Given the description of an element on the screen output the (x, y) to click on. 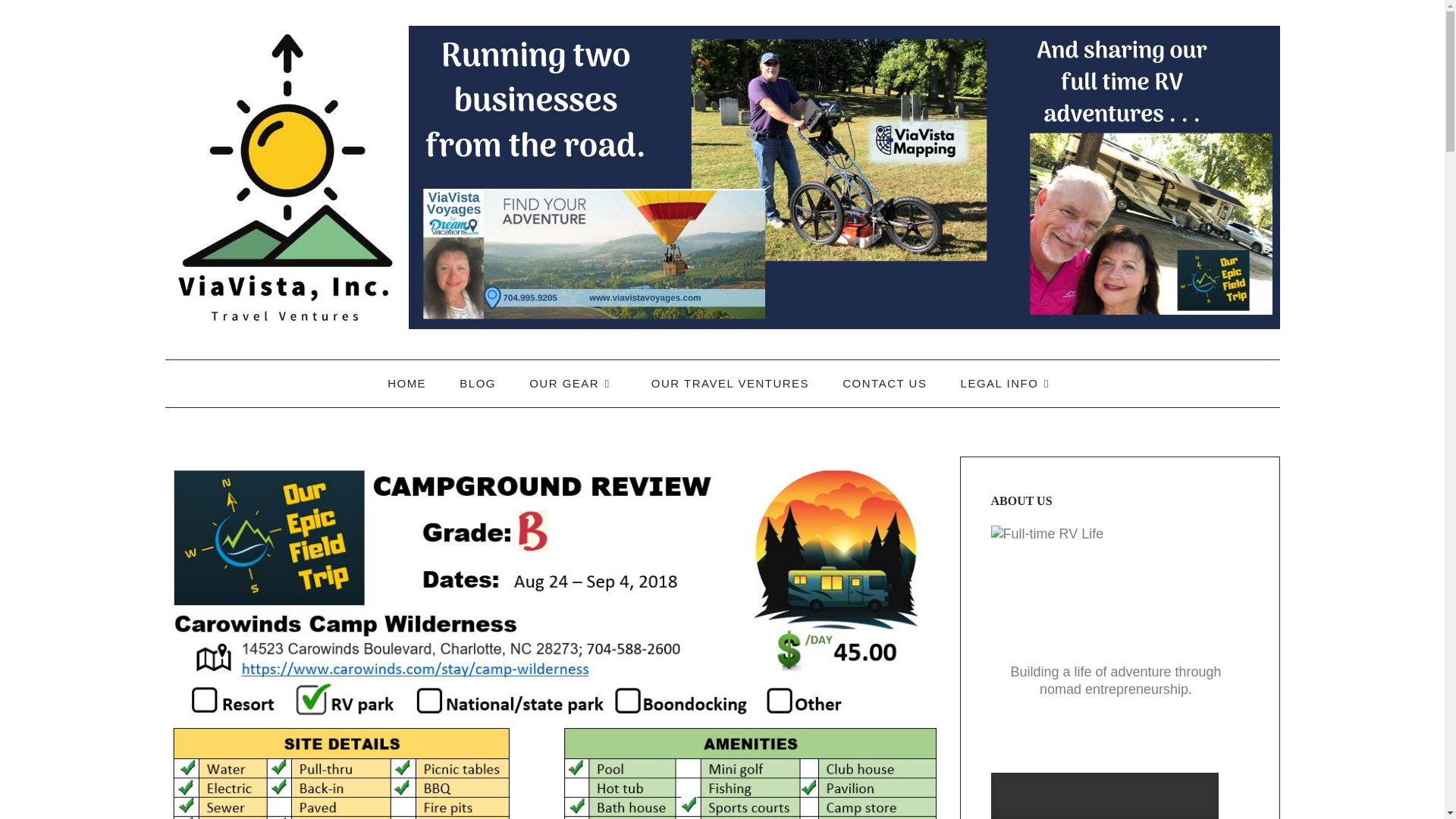
About Us (1118, 589)
SKIP TO CONTENT (238, 382)
Our Epic Field Trip (284, 358)
CONTACT US (884, 383)
OUR GEAR (573, 383)
Skip to content (238, 382)
OUR TRAVEL VENTURES (730, 383)
Our Epic Field Trip (722, 175)
BLOG (477, 383)
HOME (406, 383)
LEGAL INFO (1007, 383)
